Given the description of an element on the screen output the (x, y) to click on. 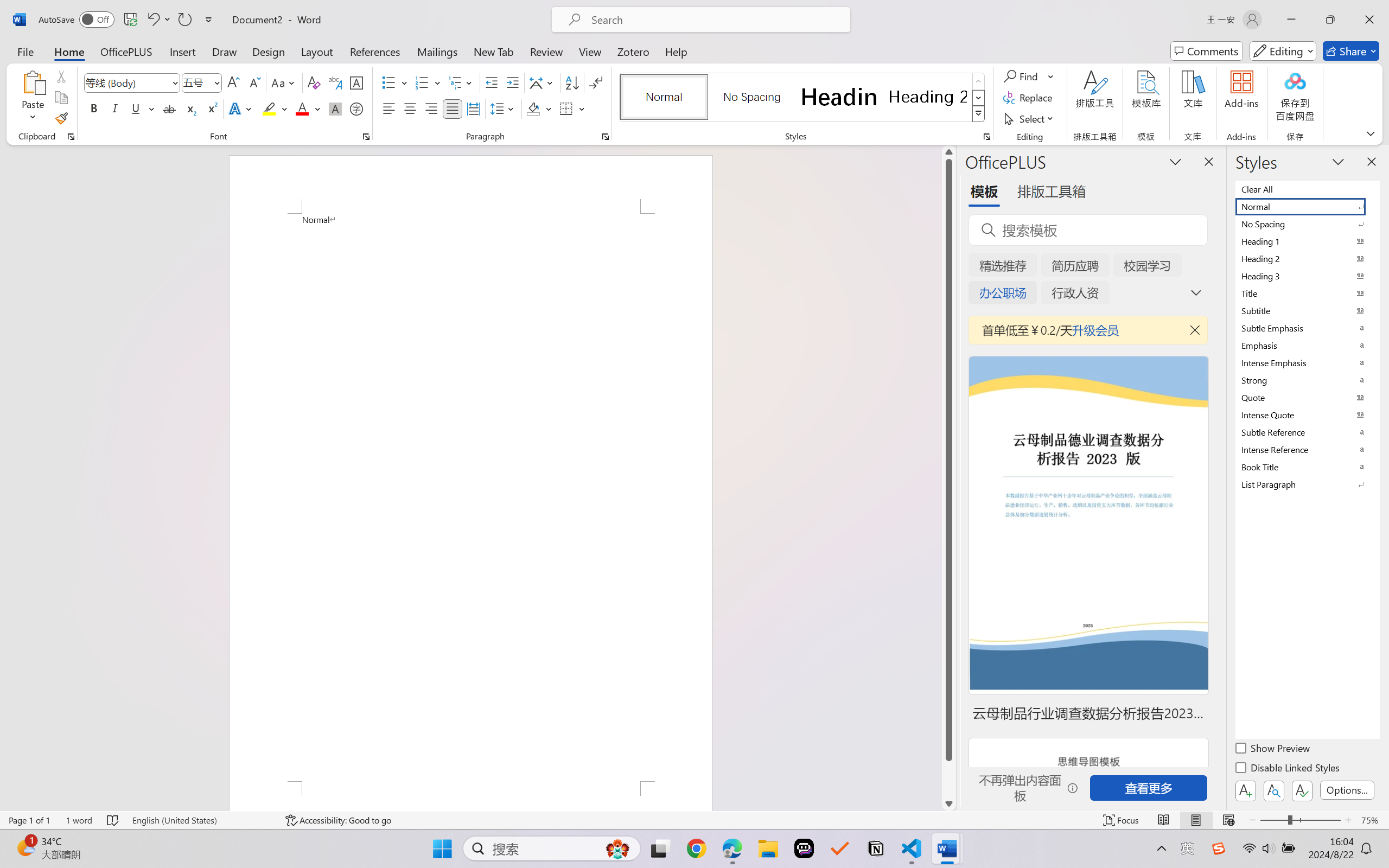
Change Case (284, 82)
Underline (135, 108)
Character Shading (334, 108)
Mailings (437, 51)
Normal (1306, 206)
Decrease Indent (491, 82)
Borders (566, 108)
Book Title (1306, 466)
Restore Down (1330, 19)
Font (126, 82)
Center (409, 108)
Italic (115, 108)
Row Down (978, 97)
